Given the description of an element on the screen output the (x, y) to click on. 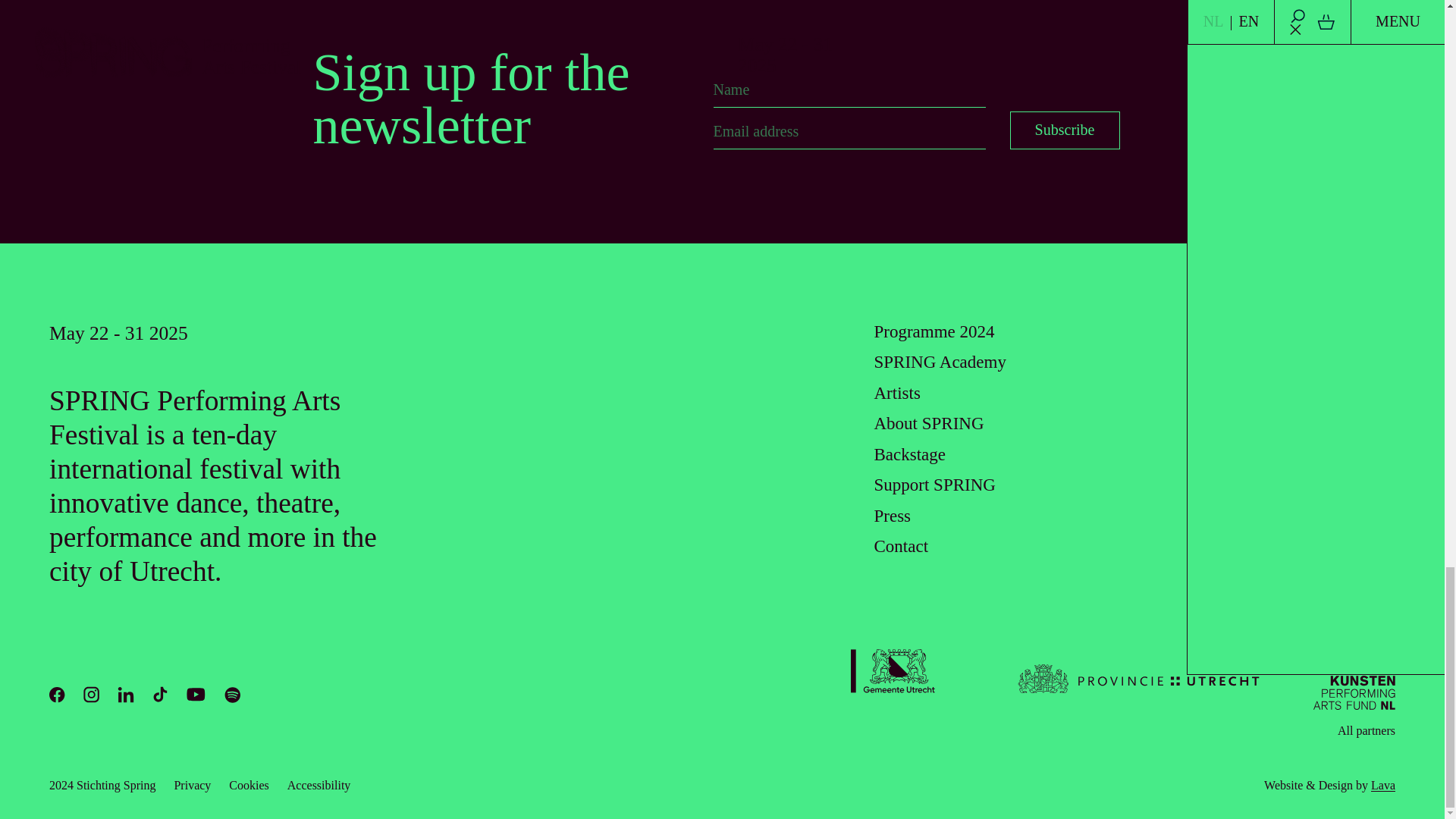
Support SPRING (933, 484)
Subscribe (1064, 130)
Backstage (908, 454)
SPRING Academy (939, 361)
Artists (896, 393)
Archive (1271, 331)
Press (892, 515)
Contact (900, 546)
About SPRING (928, 423)
Programme 2024 (933, 331)
Subscribe (1064, 130)
